Given the description of an element on the screen output the (x, y) to click on. 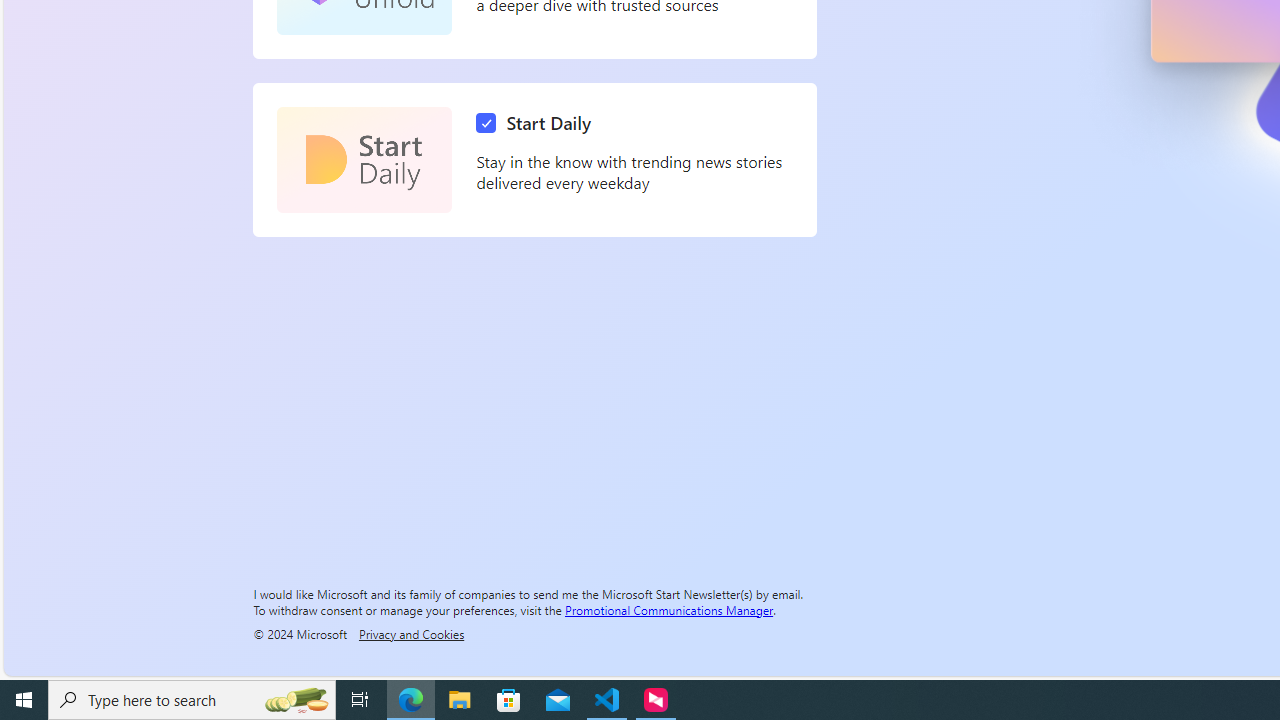
Start Daily (364, 160)
Privacy and Cookies (411, 633)
Start Daily (538, 123)
Promotional Communications Manager (669, 609)
